Given the description of an element on the screen output the (x, y) to click on. 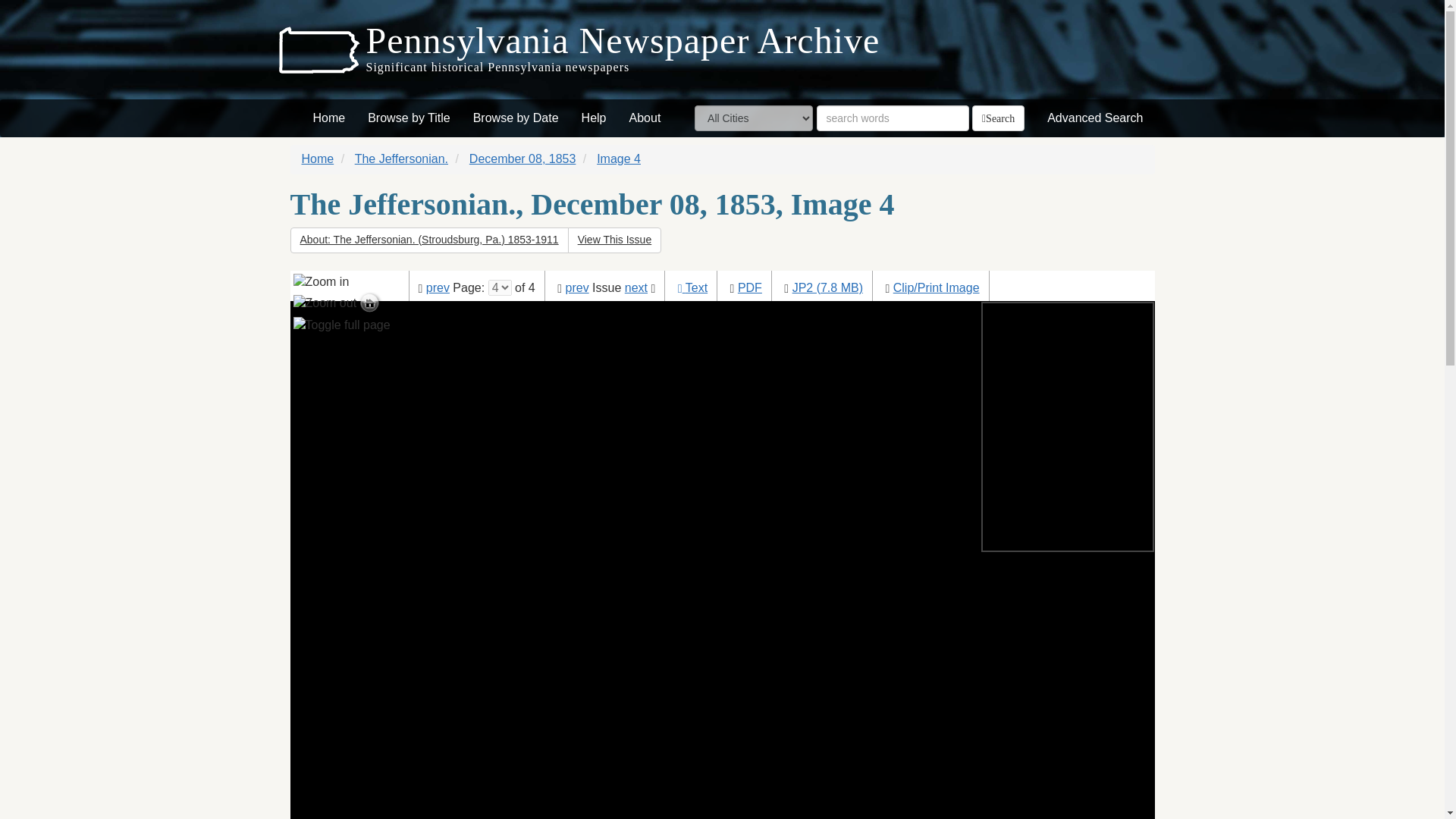
Advanced Search (1094, 118)
PDF (749, 287)
Zoom in (320, 282)
Zoom out (324, 299)
Help (593, 118)
Browse by Date (515, 118)
Home (328, 118)
Go home (323, 316)
next (635, 287)
December 08, 1853 (522, 158)
